Given the description of an element on the screen output the (x, y) to click on. 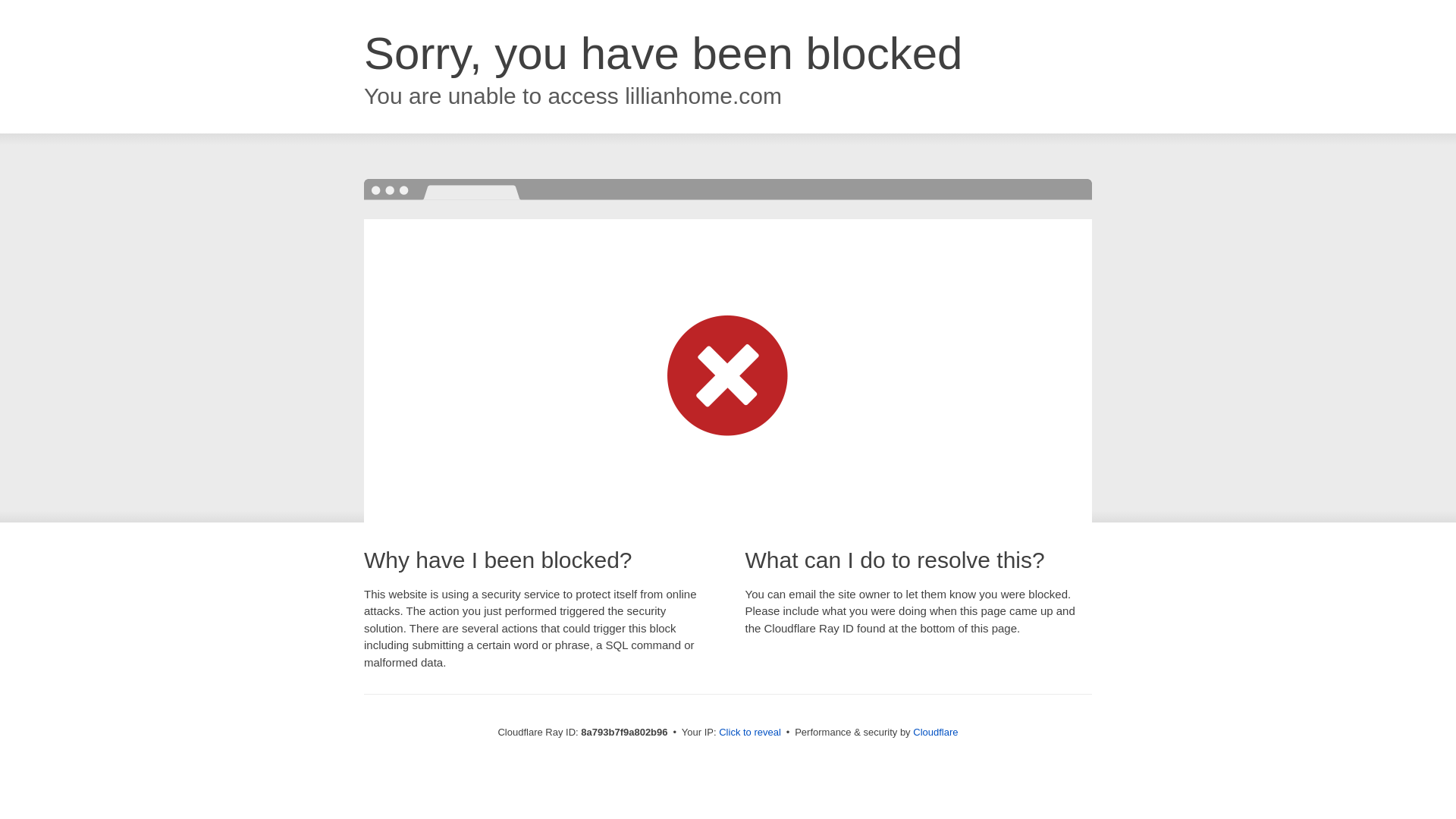
Cloudflare (935, 731)
Click to reveal (749, 732)
